Given the description of an element on the screen output the (x, y) to click on. 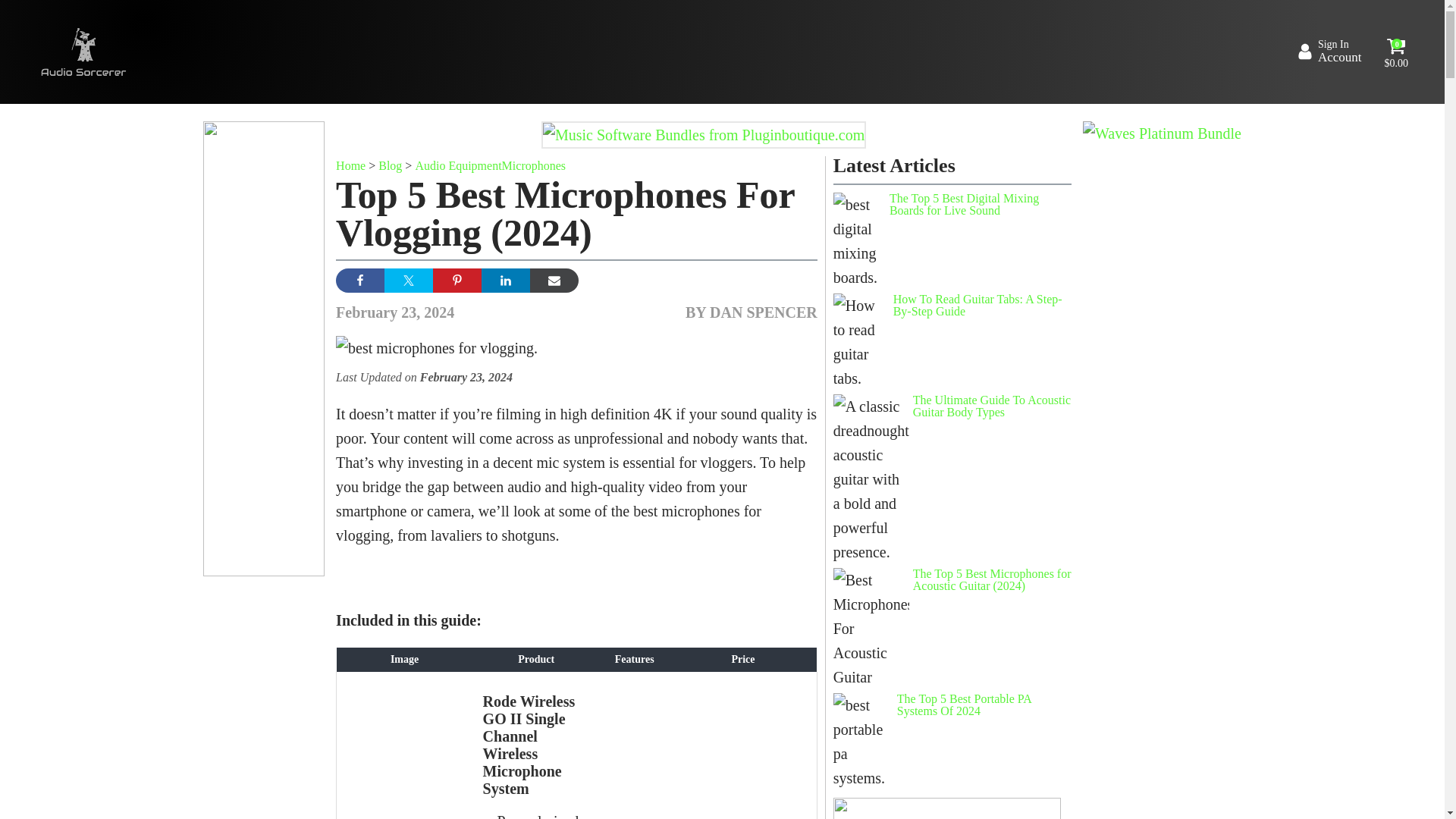
Music Software Bundles from Pluginboutique.com (703, 134)
Share on Pinterest (456, 280)
Microphones (534, 164)
Audio Equipment (457, 164)
Blog (389, 164)
Home (350, 164)
Share on Twitter (1328, 51)
Share via Email (408, 280)
Share on Facebook (553, 280)
Share on LinkedIn (360, 280)
